Given the description of an element on the screen output the (x, y) to click on. 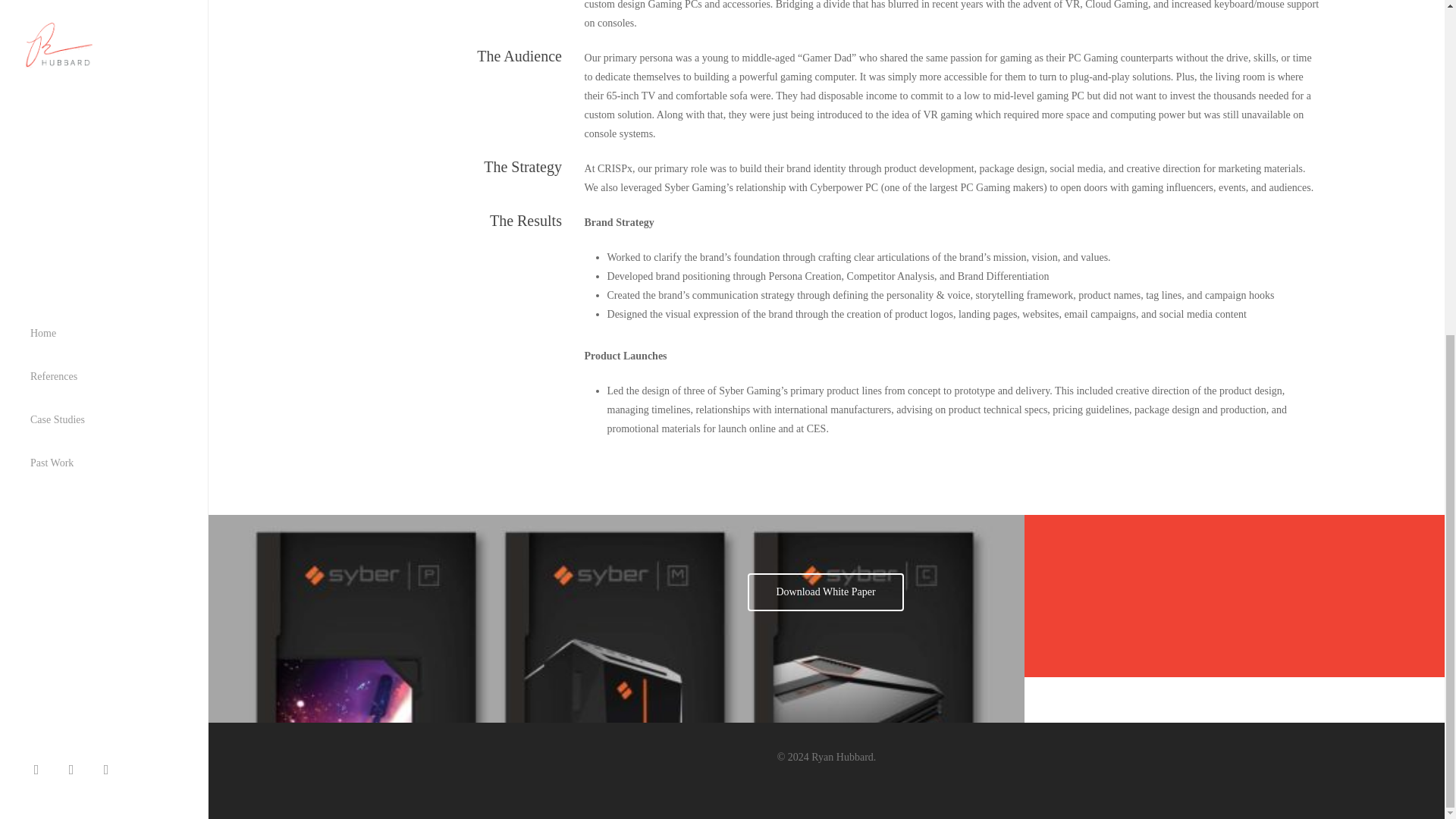
dribbble (75, 207)
linkedin (40, 207)
behance (110, 207)
Download White Paper (825, 591)
